Given the description of an element on the screen output the (x, y) to click on. 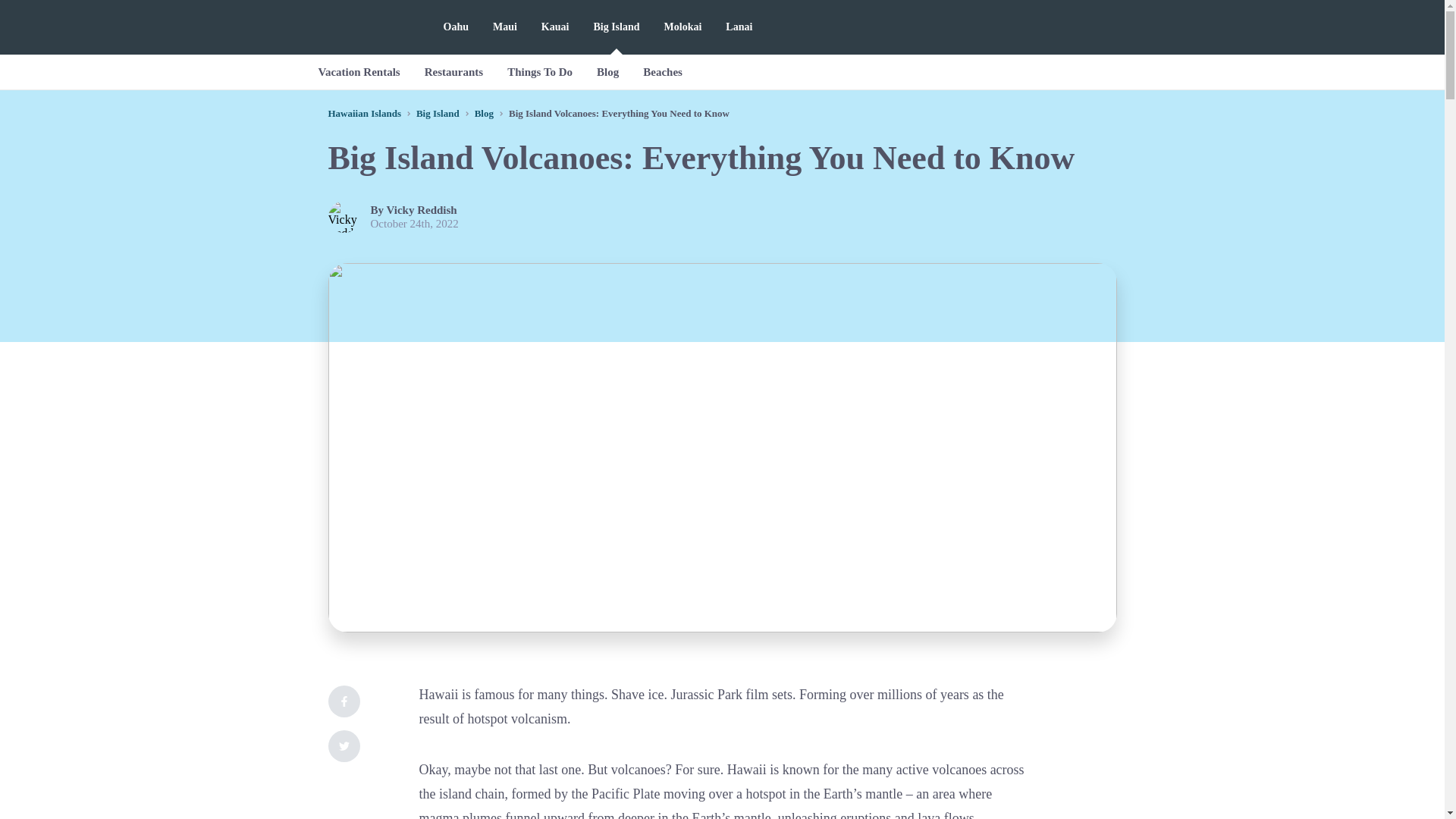
Vicky Reddish (422, 209)
Big Island (438, 112)
Vacation Rentals (358, 71)
Hawaiian Islands (363, 112)
Beaches (662, 71)
Blog (483, 112)
Restaurants (454, 71)
Things To Do (540, 71)
Blog (607, 71)
